Given the description of an element on the screen output the (x, y) to click on. 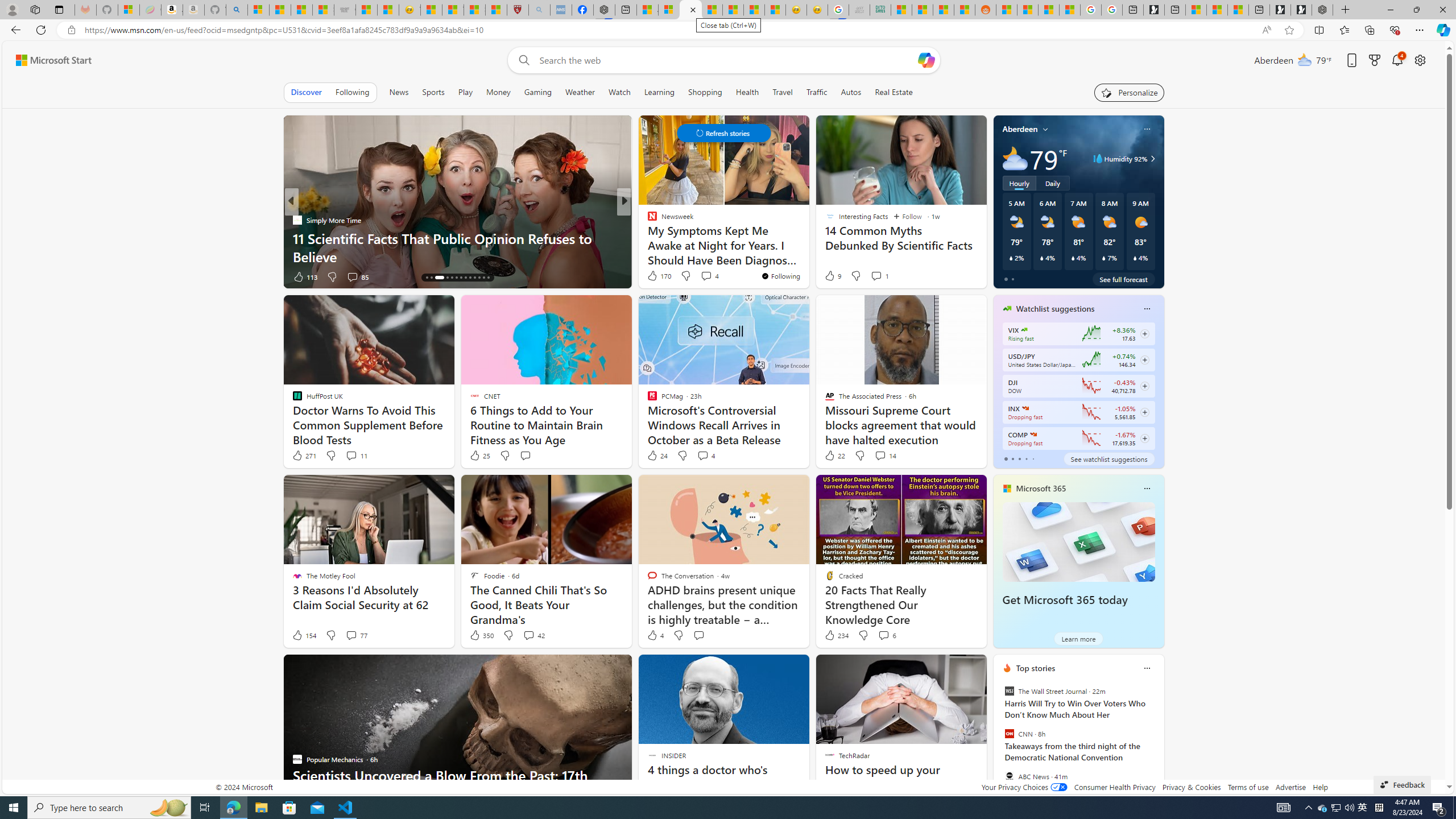
Travel (782, 92)
AutomationID: tab-18 (451, 277)
Class: control (723, 132)
22 Like (834, 455)
